Given the description of an element on the screen output the (x, y) to click on. 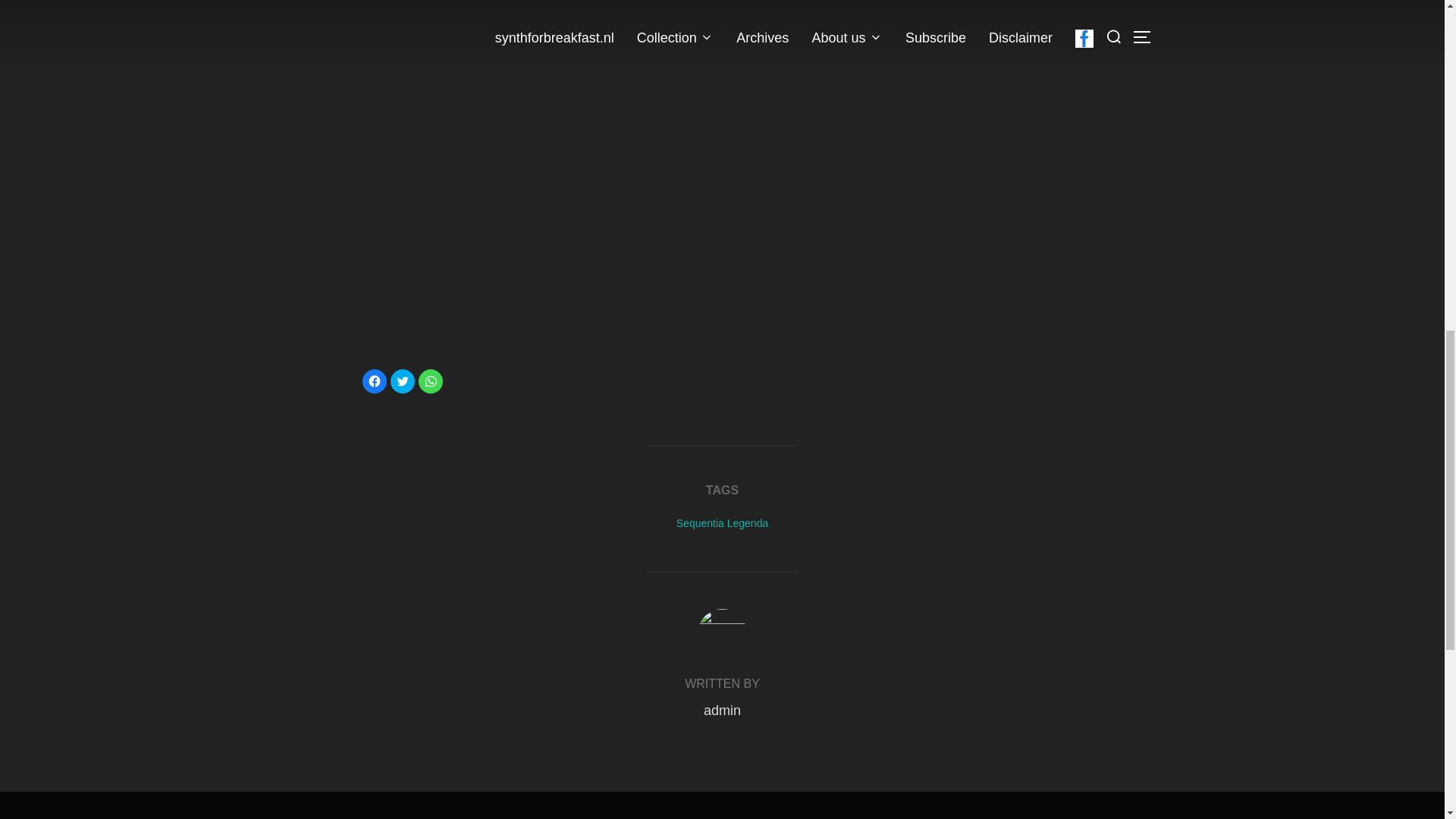
Click to share on Facebook (374, 381)
Posts by admin (722, 710)
Click to share on Twitter (401, 381)
Click to share on WhatsApp (430, 381)
